Given the description of an element on the screen output the (x, y) to click on. 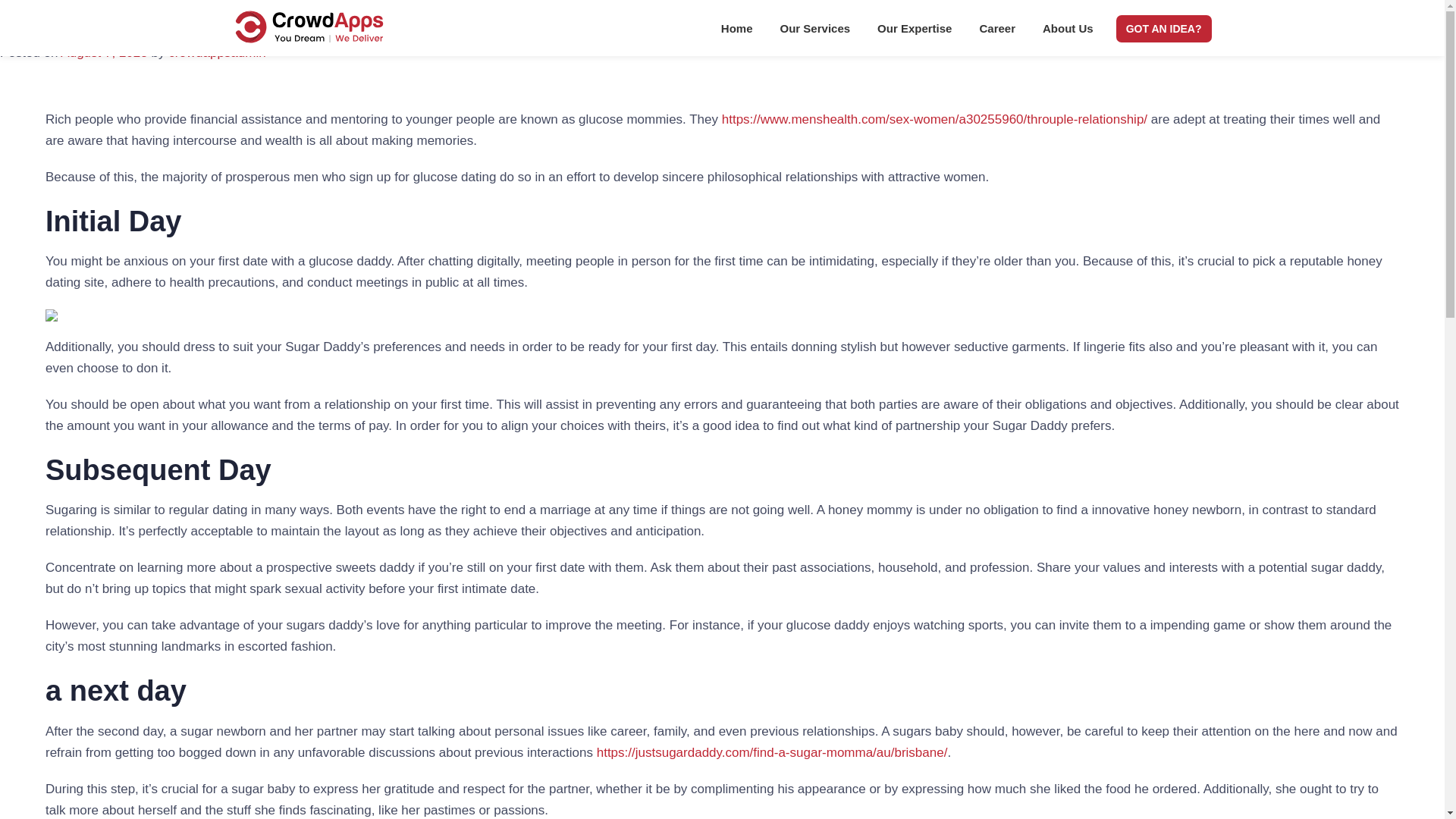
About Us (1067, 31)
Our Expertise (914, 31)
Our Services (815, 31)
Home (737, 31)
GOT AN IDEA? (1163, 28)
crowdappsadmin (217, 52)
August 7, 2023 (104, 52)
Career (997, 31)
